Given the description of an element on the screen output the (x, y) to click on. 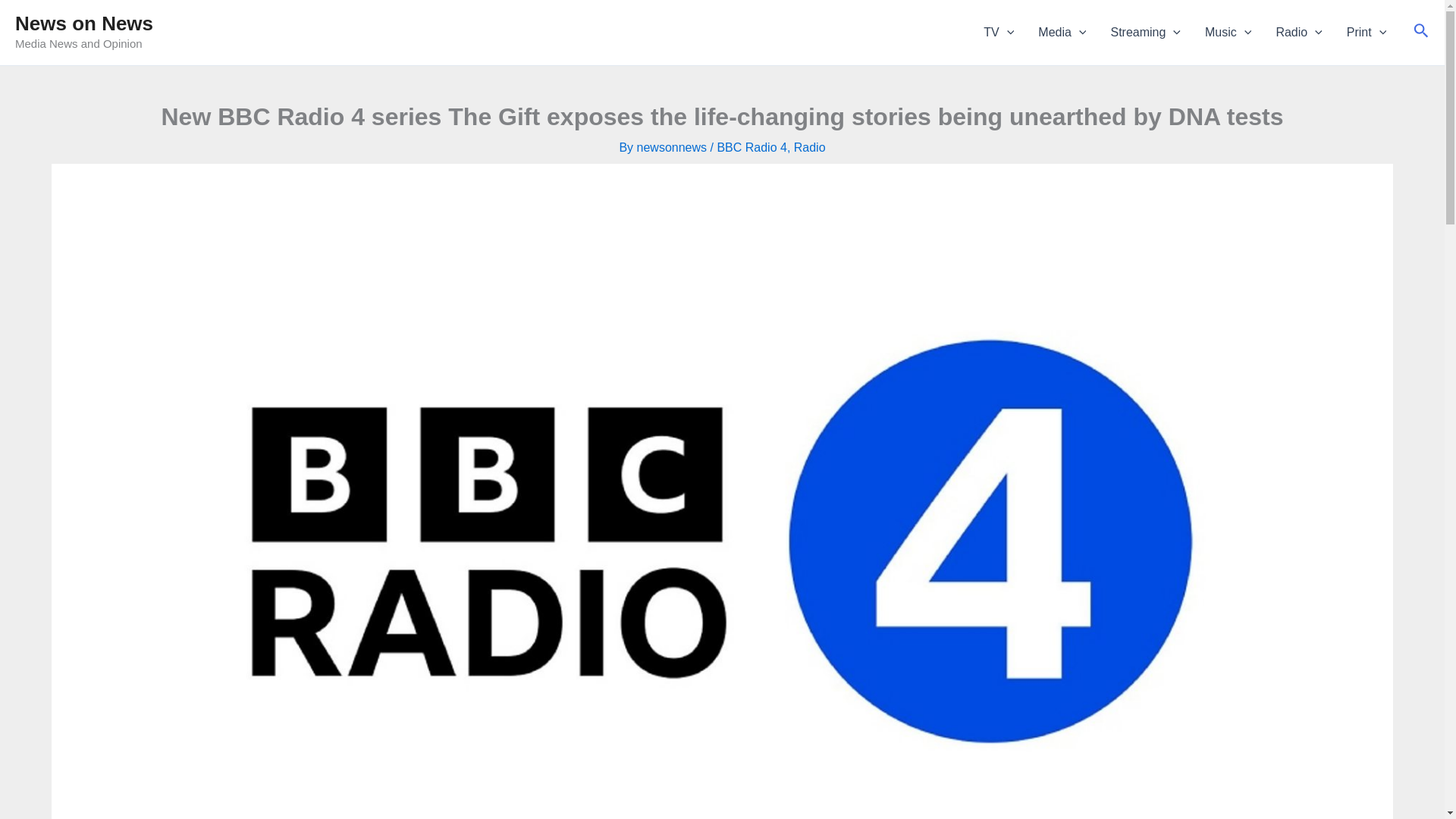
Streaming (1144, 32)
View all posts by newsonnews (673, 146)
News on News (83, 23)
Media (1061, 32)
Music (1227, 32)
TV (998, 32)
